Given the description of an element on the screen output the (x, y) to click on. 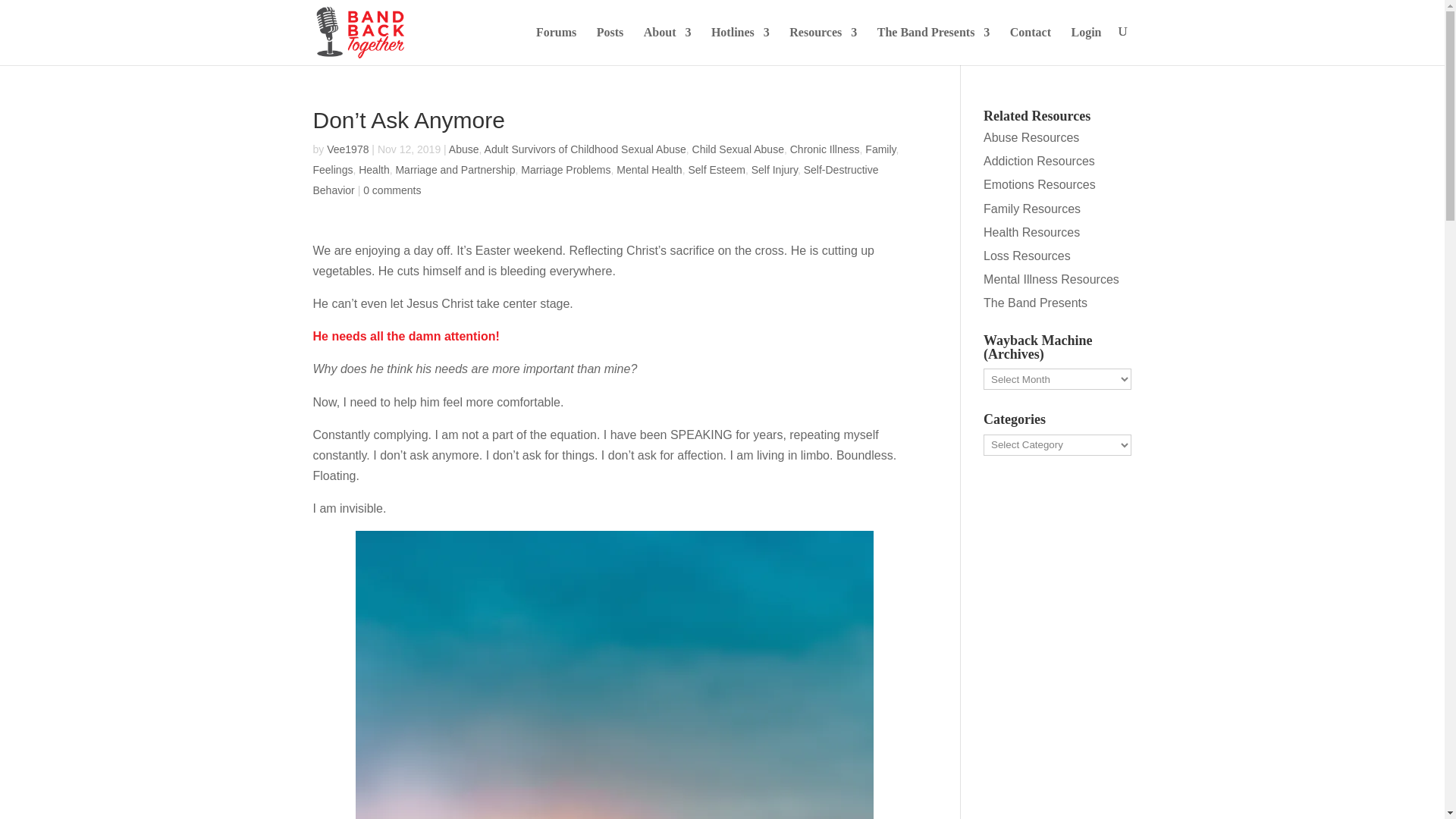
About (667, 45)
Forums (555, 45)
Hotlines (740, 45)
Posts by Vee1978 (347, 149)
Resources (823, 45)
